Given the description of an element on the screen output the (x, y) to click on. 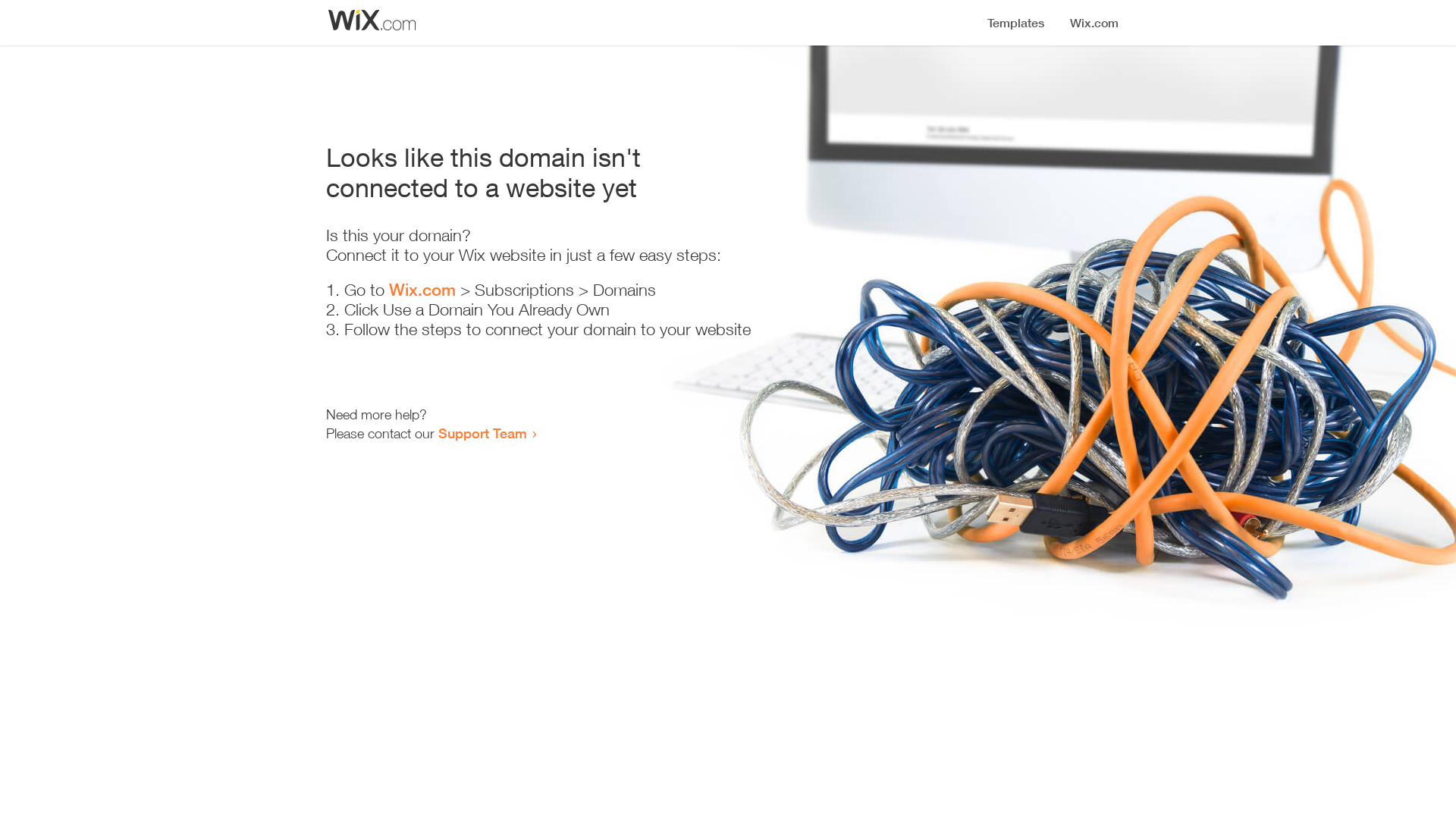
Wix.com Element type: text (422, 289)
Support Team Element type: text (482, 432)
